Given the description of an element on the screen output the (x, y) to click on. 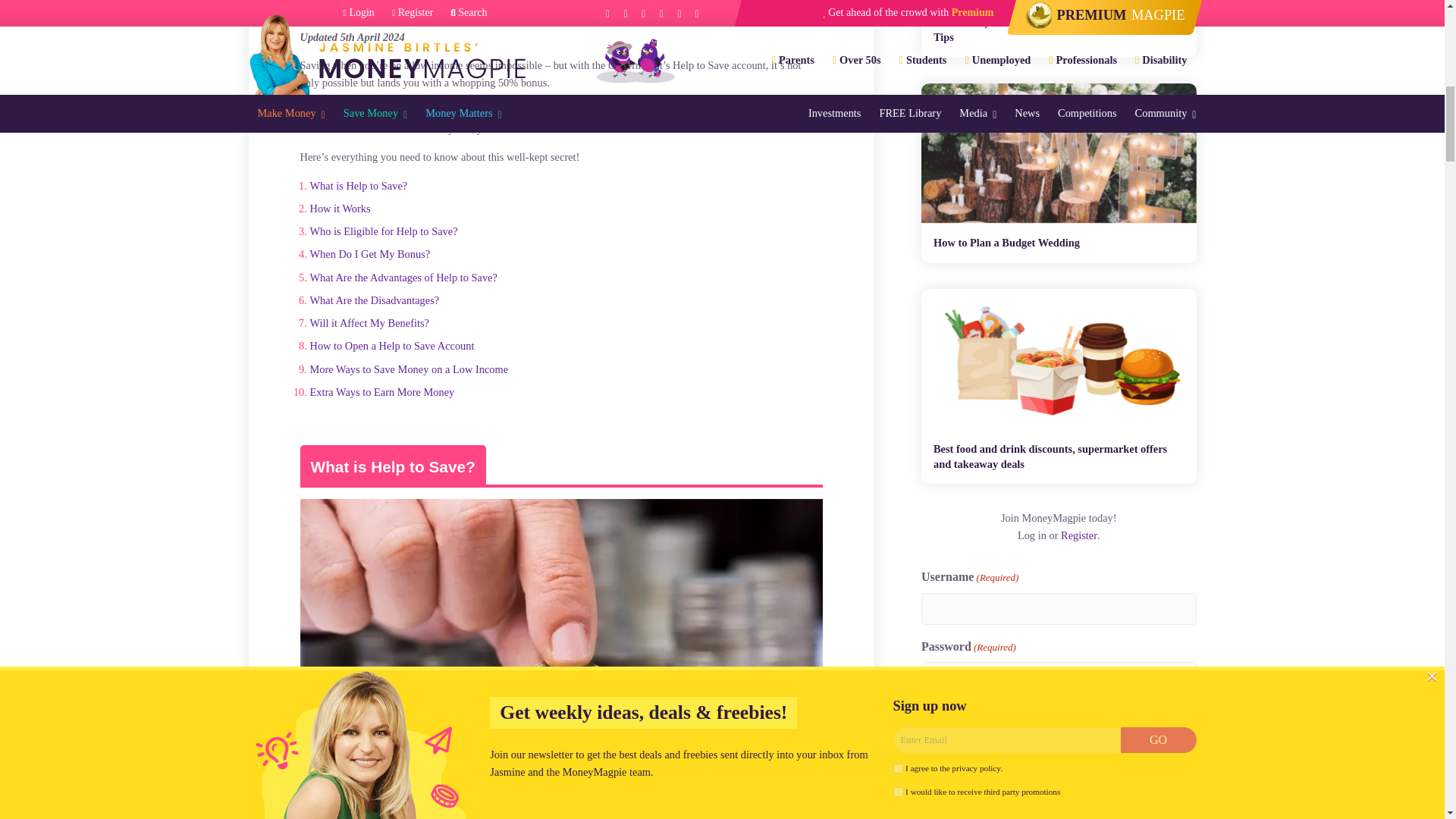
1 (926, 715)
Login (940, 753)
